Given the description of an element on the screen output the (x, y) to click on. 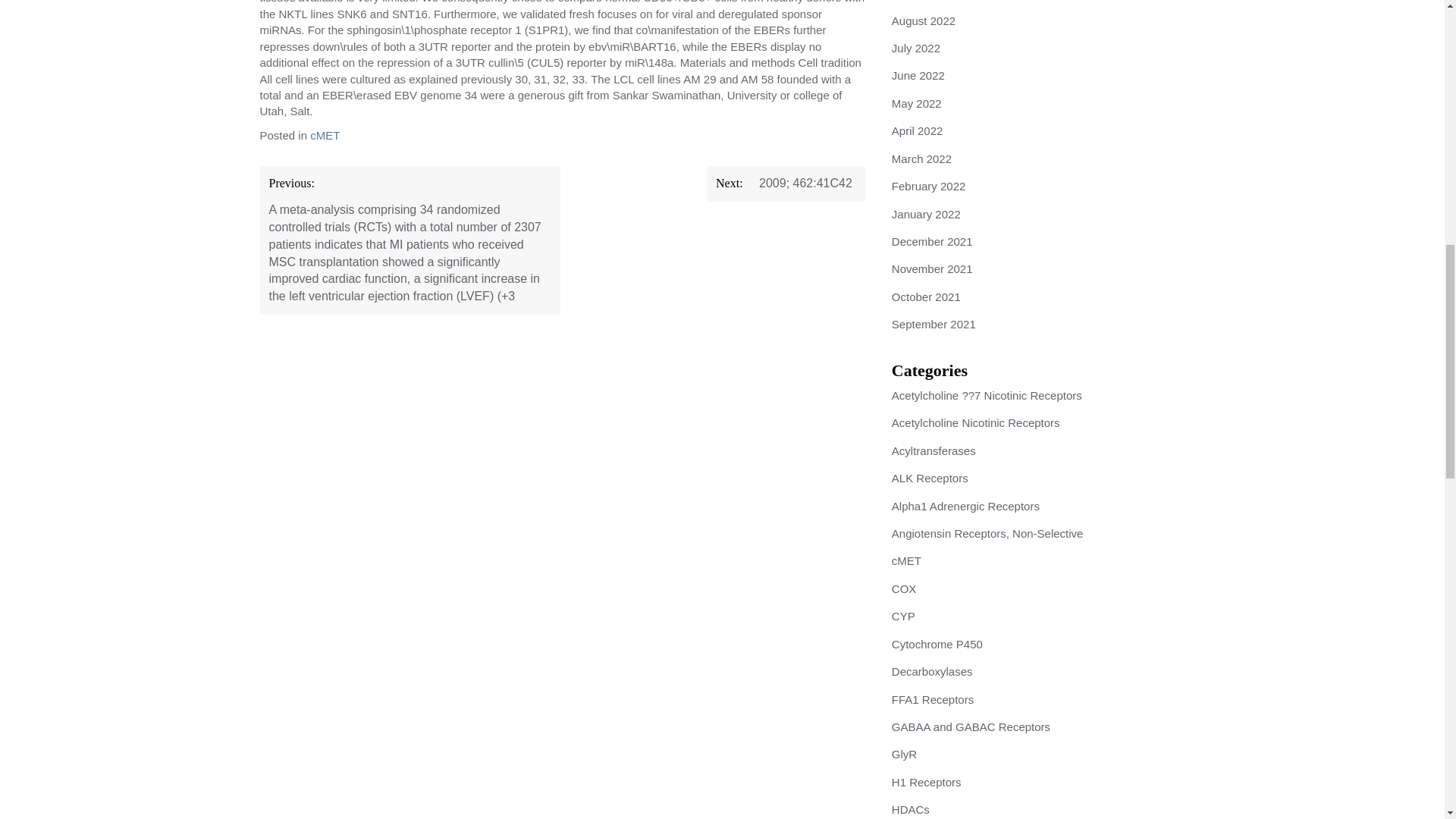
January 2022 (925, 214)
June 2022 (917, 74)
February 2022 (928, 185)
March 2022 (921, 158)
cMET (324, 134)
July 2022 (915, 47)
August 2022 (923, 20)
April 2022 (917, 130)
May 2022 (916, 103)
